Given the description of an element on the screen output the (x, y) to click on. 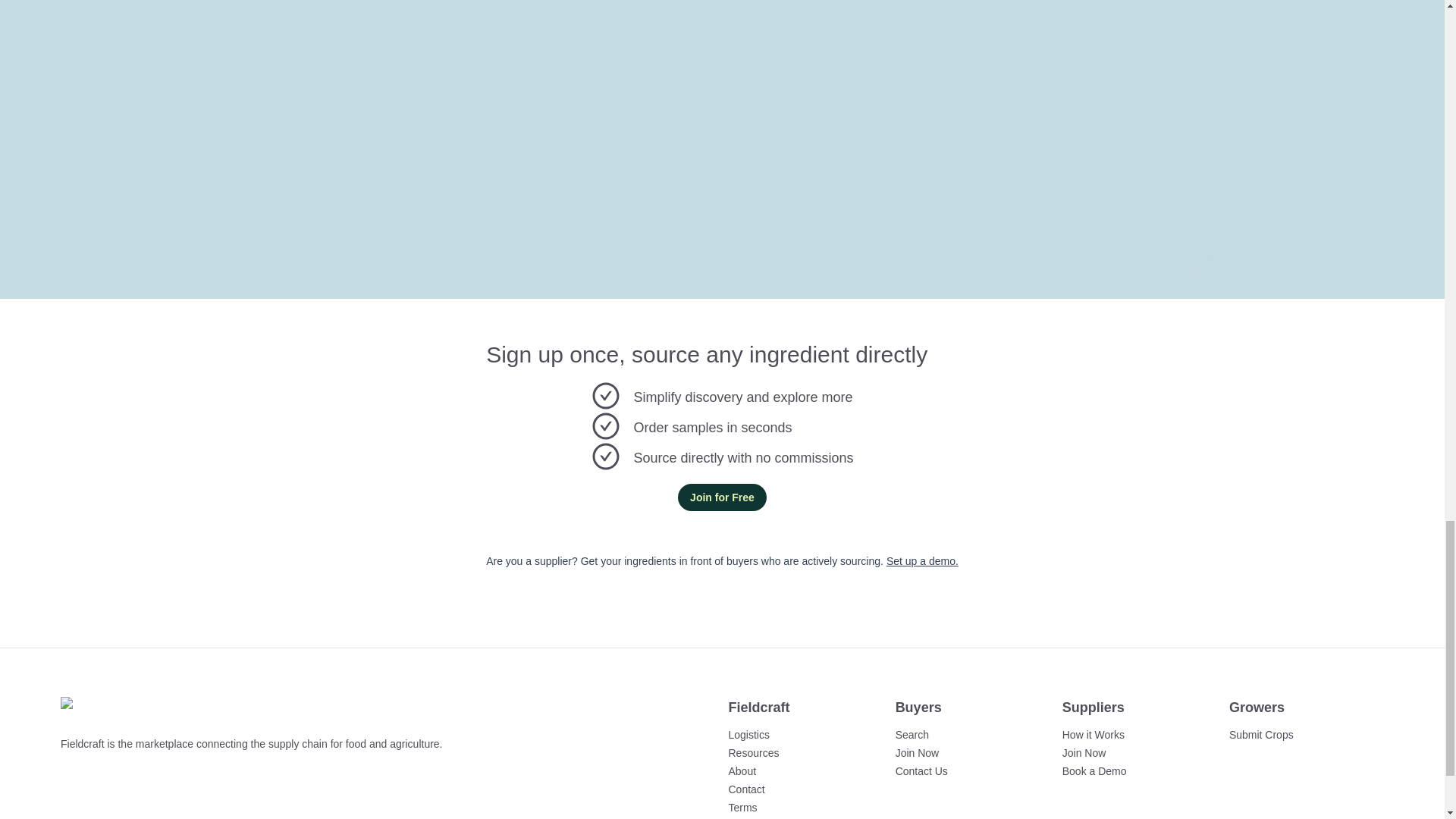
Join Now (917, 752)
Join for Free (722, 497)
About (741, 770)
Contact Us (921, 770)
Terms (742, 807)
Set up a demo. (922, 560)
Book a Demo (1094, 770)
Search (911, 734)
How it Works (1093, 734)
Logistics (748, 734)
Join Now (1084, 752)
Resources (753, 752)
Contact (746, 788)
Submit Crops (1261, 734)
